Given the description of an element on the screen output the (x, y) to click on. 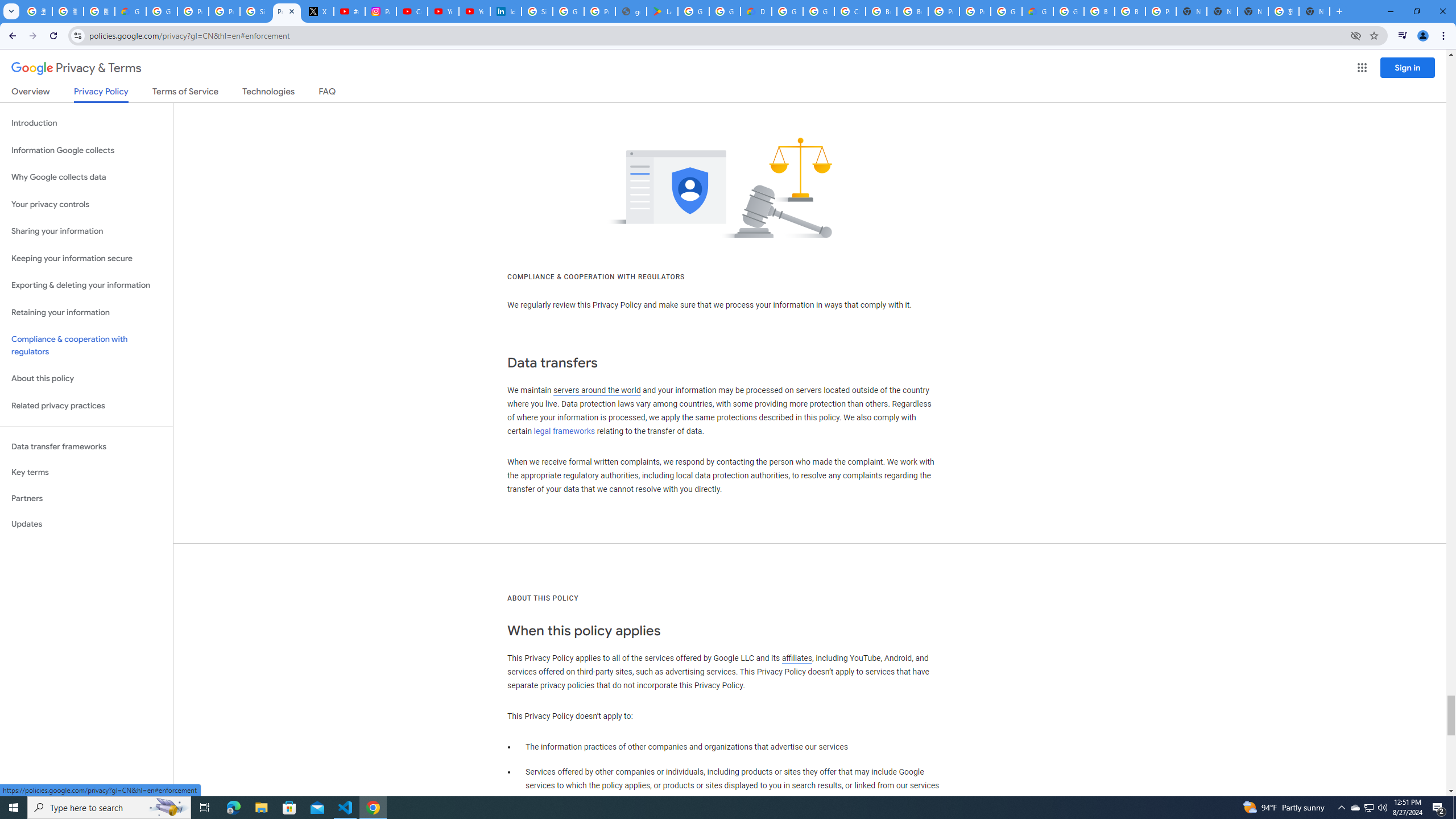
Google Cloud Platform (1068, 11)
Last Shelter: Survival - Apps on Google Play (662, 11)
Google Cloud Privacy Notice (130, 11)
